Given the description of an element on the screen output the (x, y) to click on. 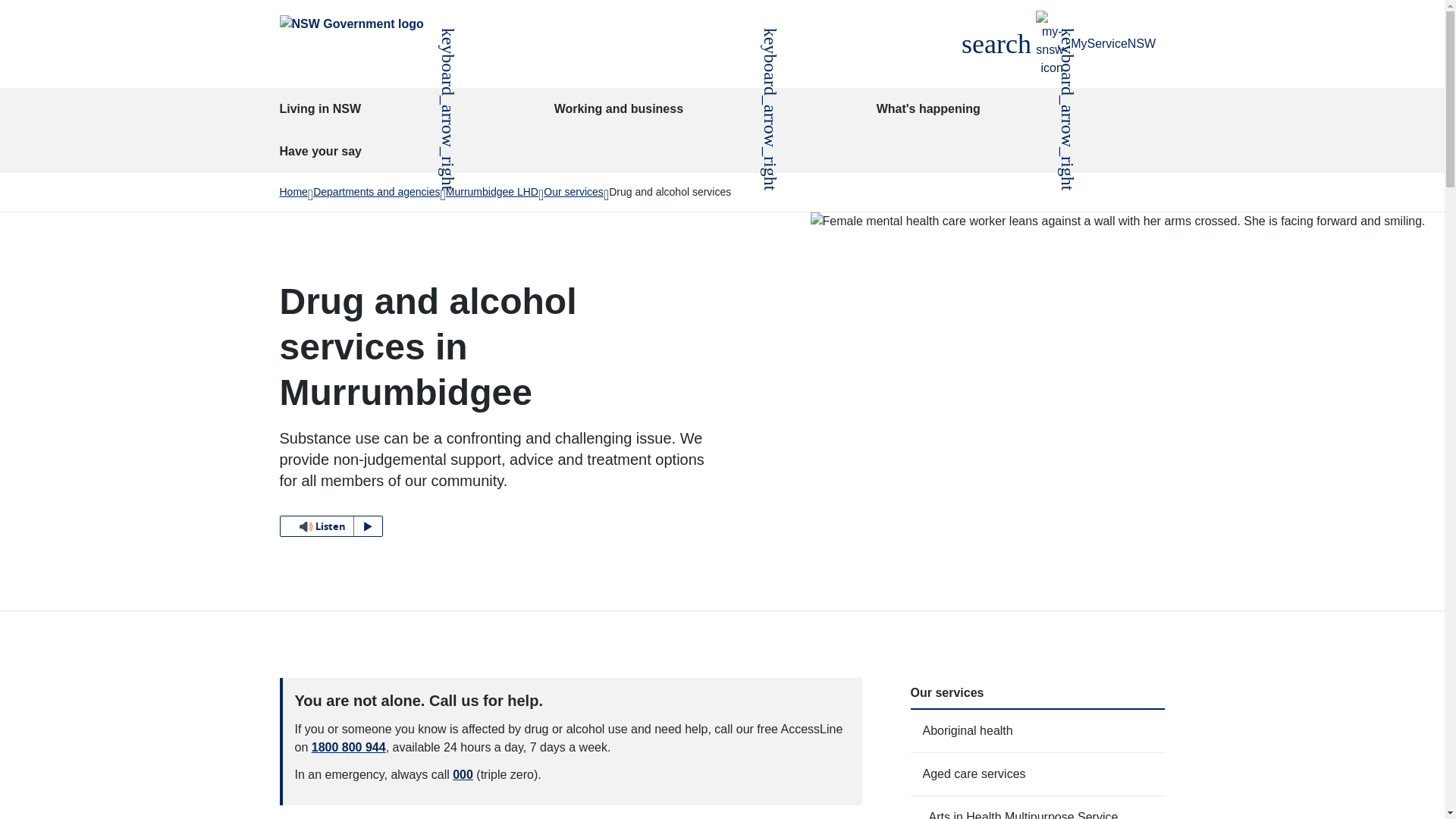
MyServiceNSW (1096, 43)
Listen to this page using ReadSpeaker webReader (996, 43)
